Given the description of an element on the screen output the (x, y) to click on. 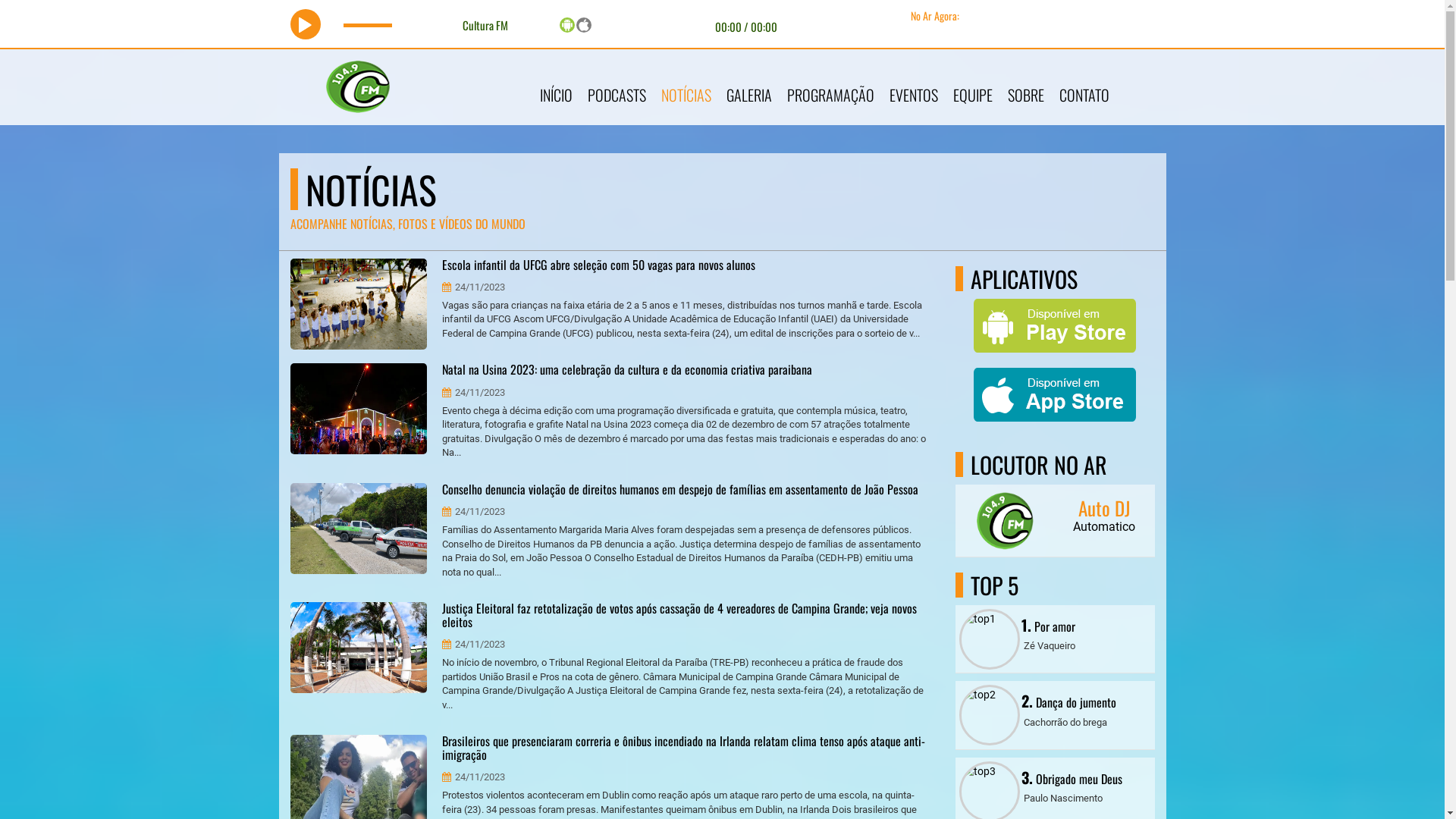
EQUIPE Element type: text (971, 87)
PODCASTS Element type: text (615, 87)
mute Element type: text (337, 24)
CONTATO Element type: text (1083, 87)
EVENTOS Element type: text (912, 87)
GALERIA Element type: text (748, 87)
SOBRE Element type: text (1025, 87)
max volume Element type: text (416, 24)
